Given the description of an element on the screen output the (x, y) to click on. 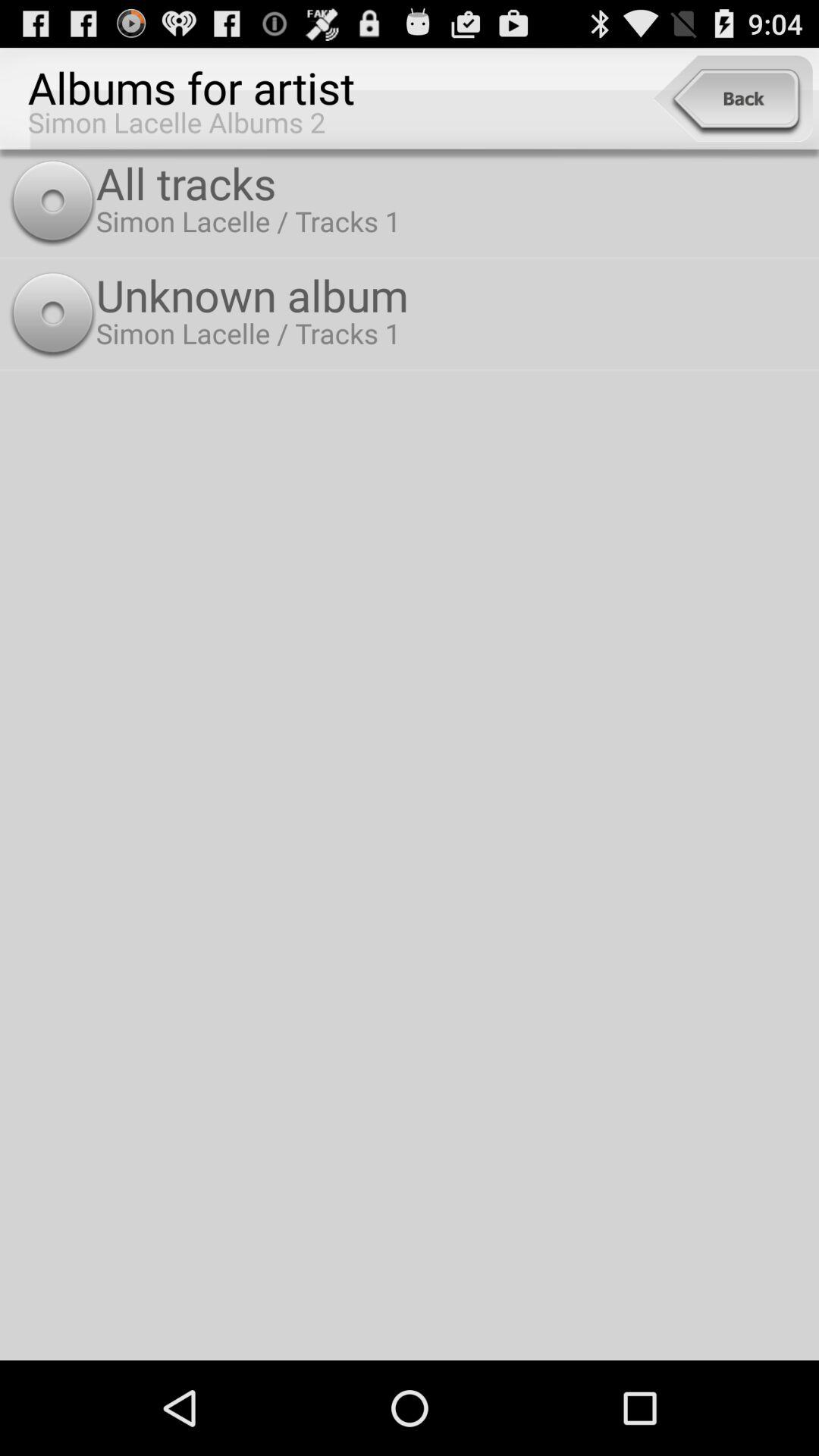
flip to the all tracks app (454, 182)
